Given the description of an element on the screen output the (x, y) to click on. 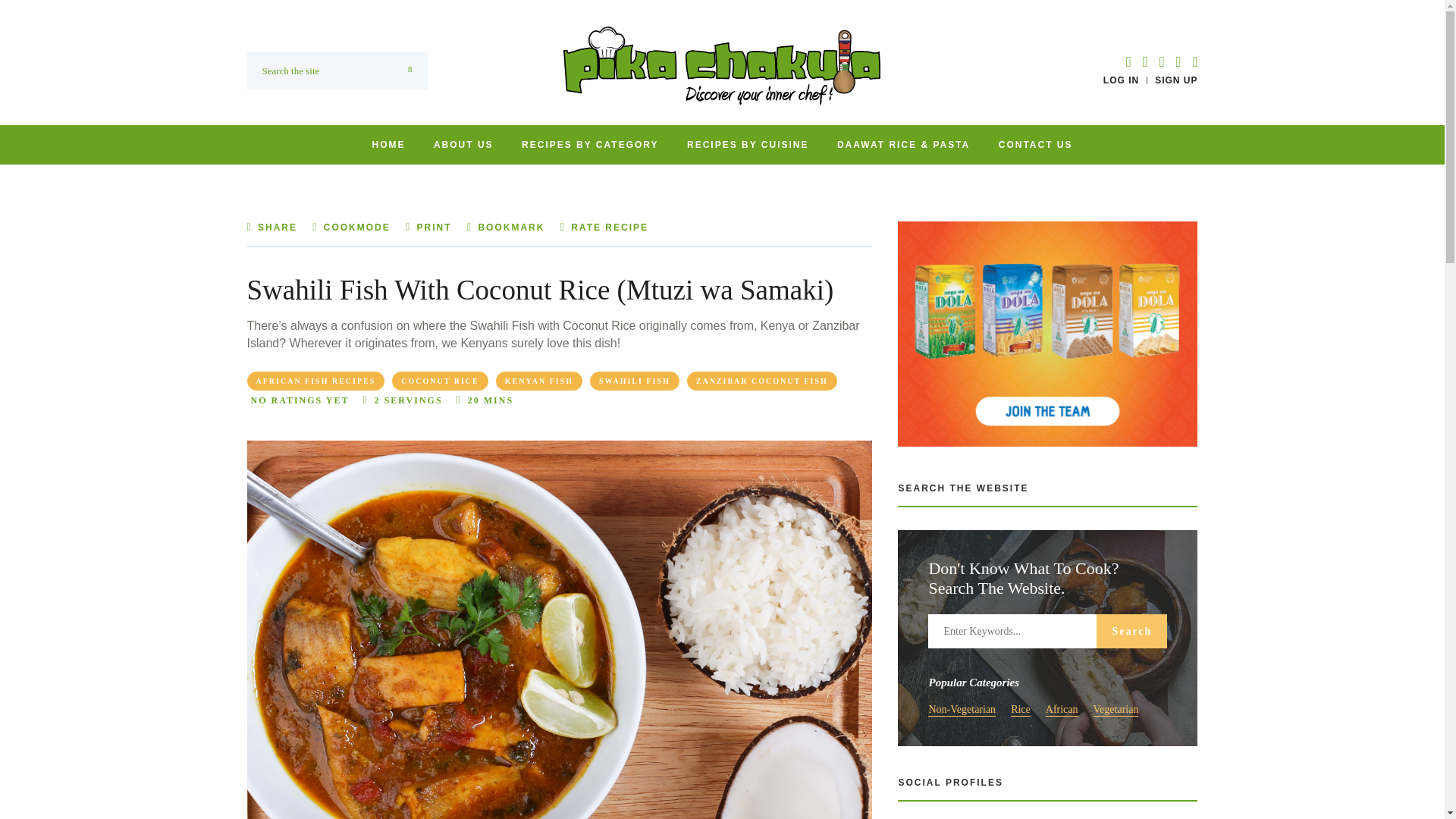
CONTACT US (1035, 144)
ABOUT US (463, 144)
RECIPES BY CUISINE (747, 144)
LOG IN (1120, 80)
RECIPES BY CATEGORY (589, 144)
SIGN UP (1175, 80)
Search (1131, 631)
HOME (387, 144)
